Given the description of an element on the screen output the (x, y) to click on. 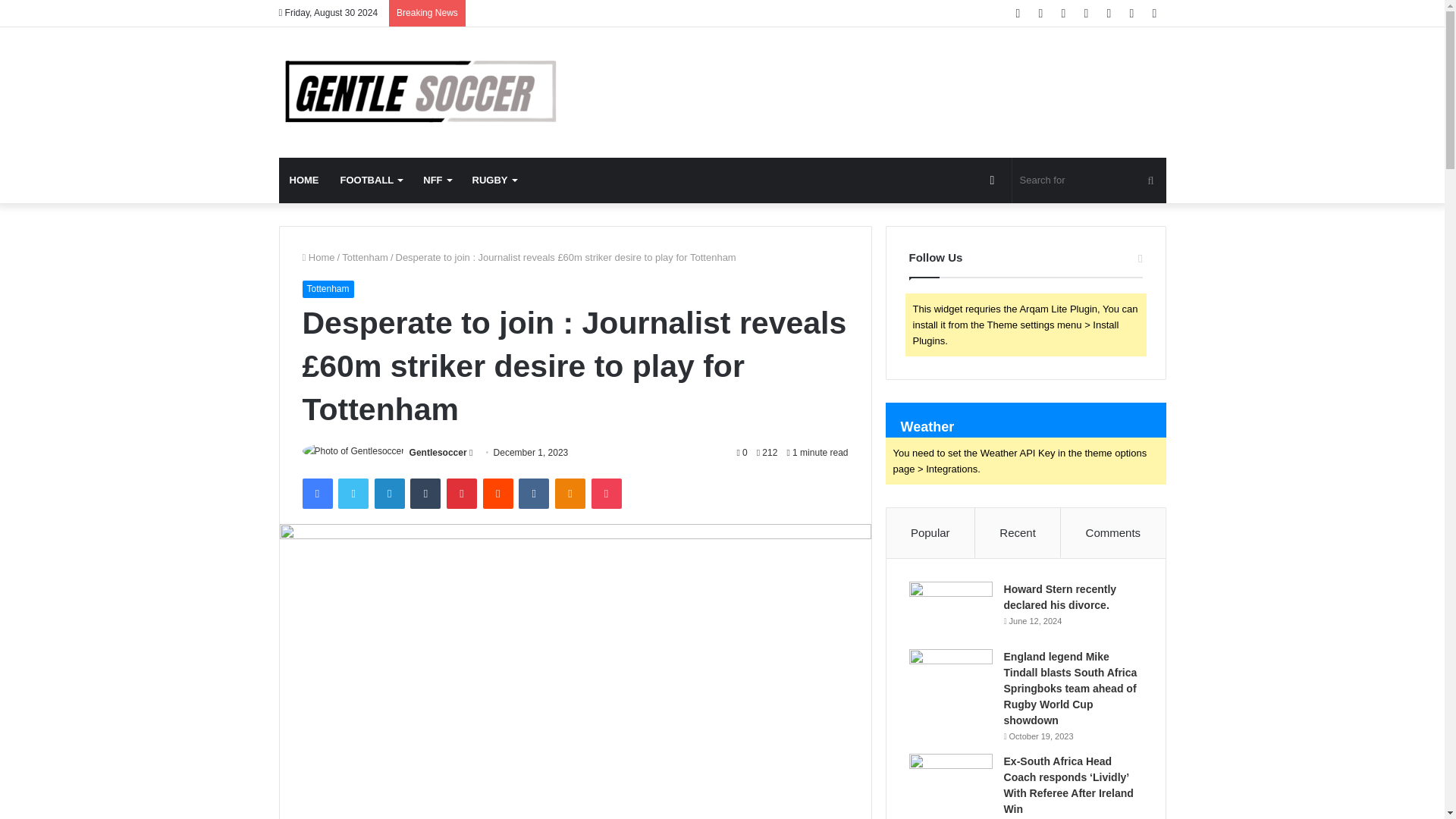
LinkedIn (389, 493)
NFF (436, 180)
Tumblr (425, 493)
Search for (1088, 180)
VKontakte (533, 493)
Facebook (316, 493)
HOME (304, 180)
Gentlesoccer (438, 452)
